Given the description of an element on the screen output the (x, y) to click on. 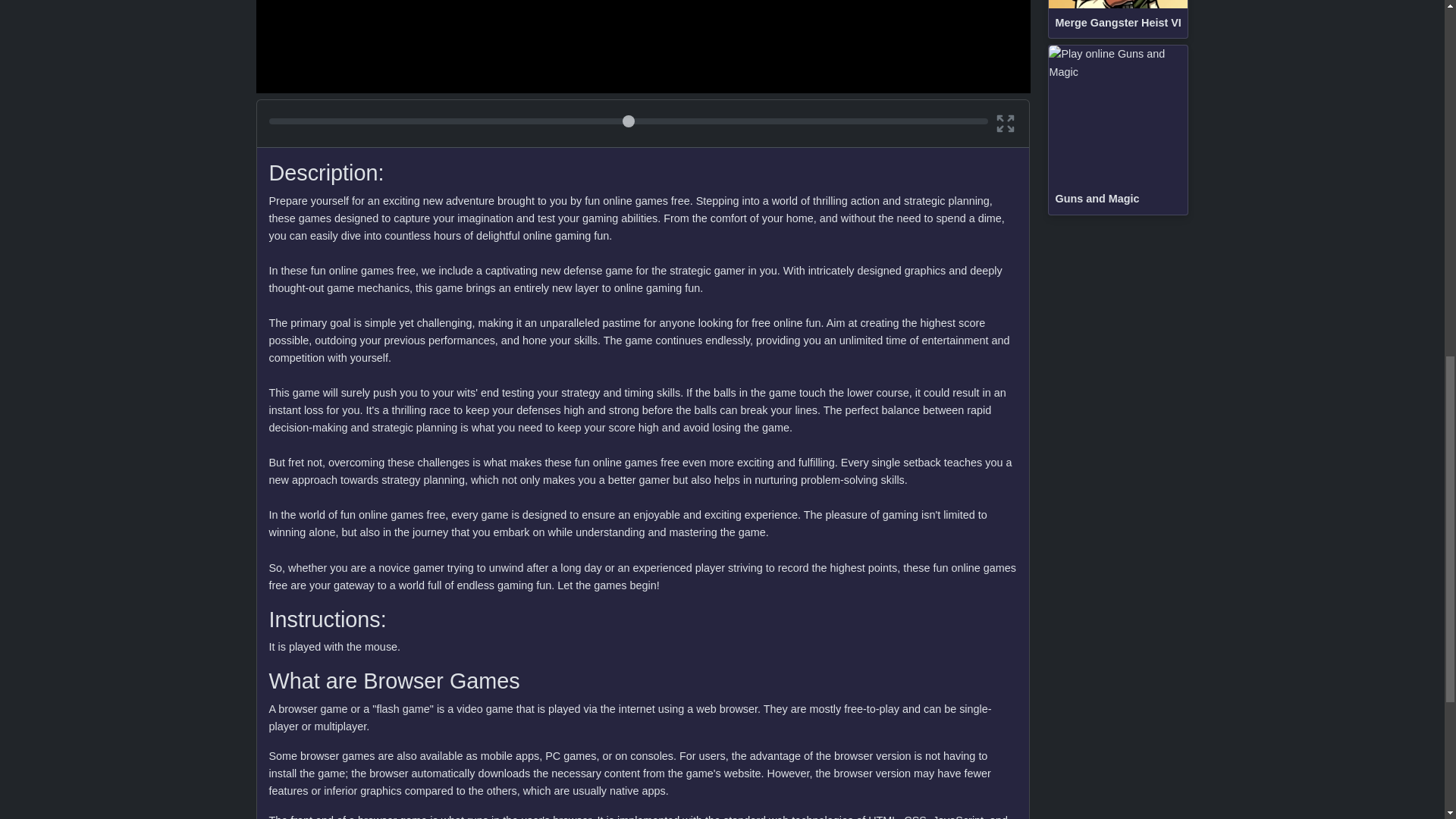
75 (627, 121)
